Given the description of an element on the screen output the (x, y) to click on. 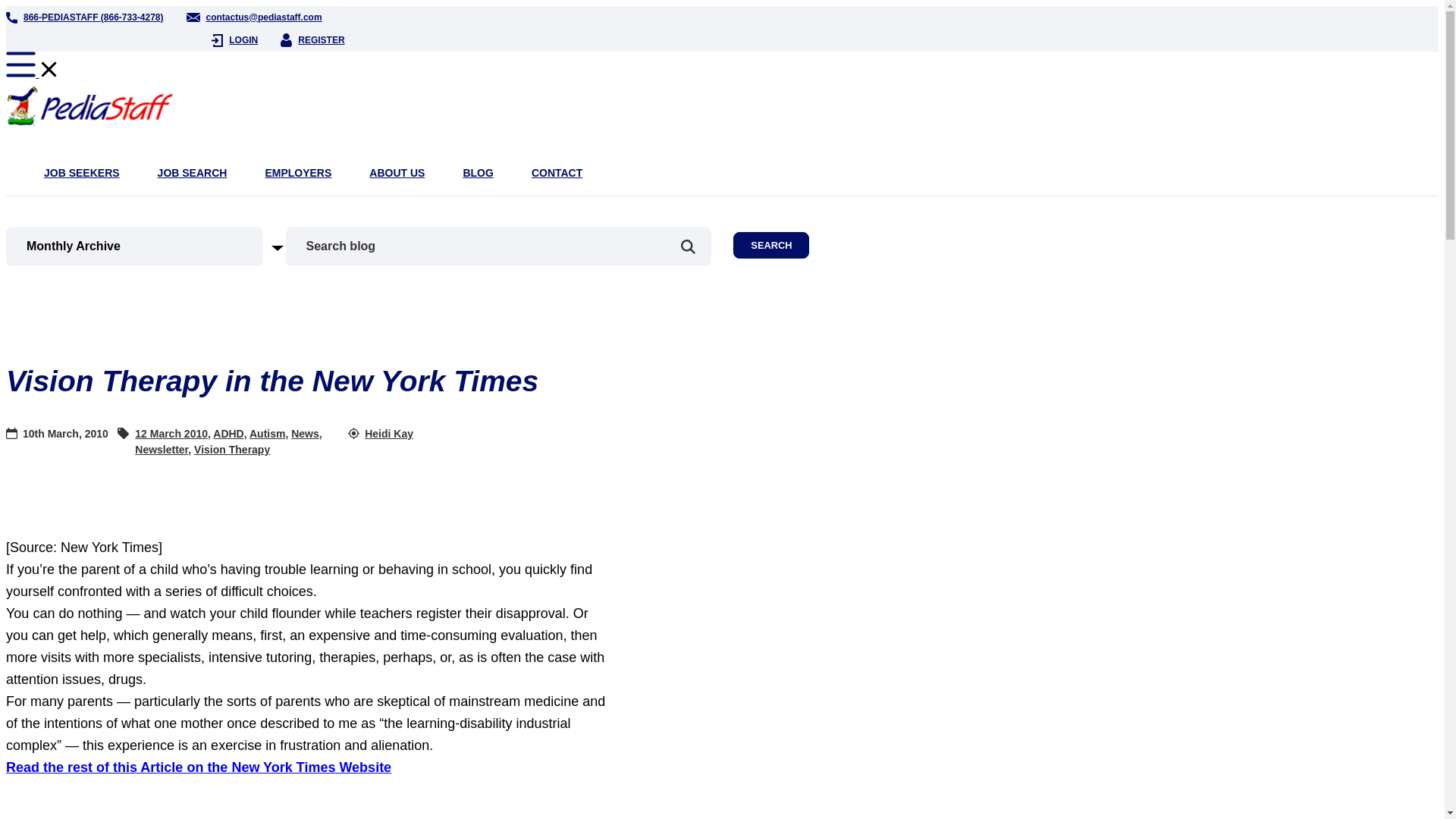
LOGIN (234, 39)
Monthly Archive (154, 246)
JOB SEARCH (192, 173)
SEARCH (771, 244)
CONTACT (556, 173)
JOB SEEKERS (81, 173)
REGISTER (312, 39)
ABOUT US (397, 173)
EMPLOYERS (297, 173)
BLOG (478, 173)
